Given the description of an element on the screen output the (x, y) to click on. 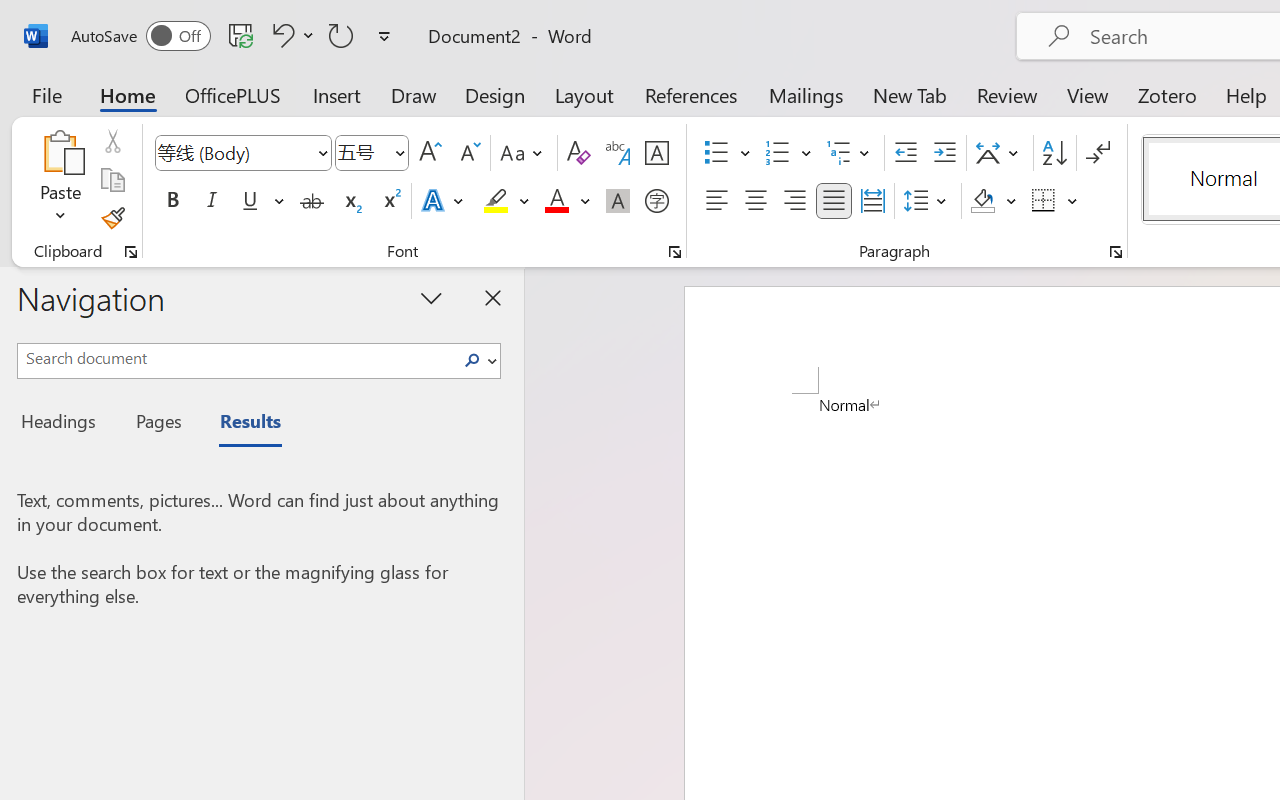
Results (240, 424)
Headings (64, 424)
Underline (250, 201)
Insert (337, 94)
Multilevel List (850, 153)
Numbering (788, 153)
Bullets (727, 153)
Search (471, 360)
Task Pane Options (431, 297)
Underline (261, 201)
File Tab (46, 94)
Repeat Doc Close (341, 35)
Font Size (372, 153)
